Given the description of an element on the screen output the (x, y) to click on. 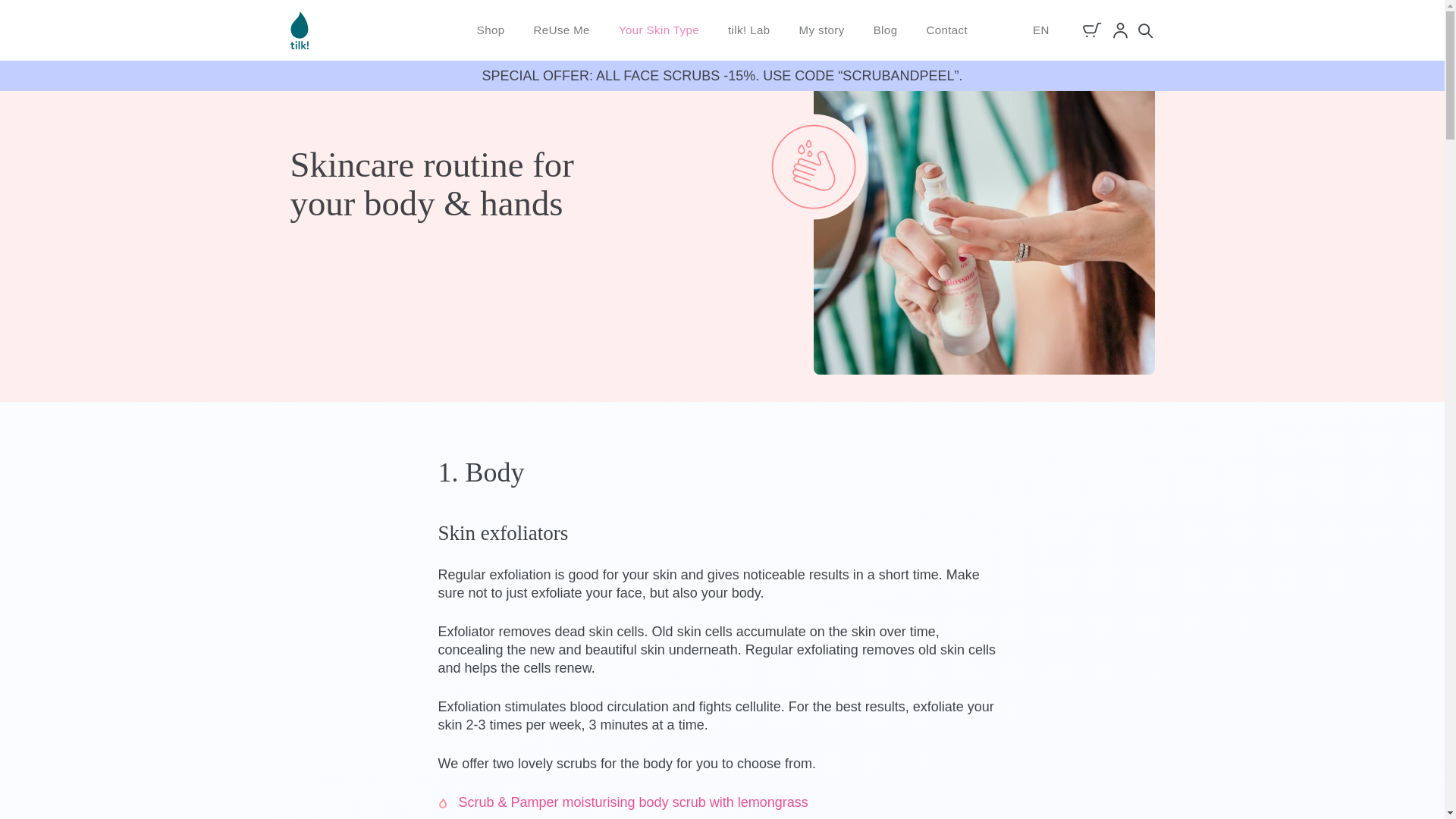
Your Skin Type (658, 30)
ReUse Me (561, 30)
Shop (491, 30)
